Given the description of an element on the screen output the (x, y) to click on. 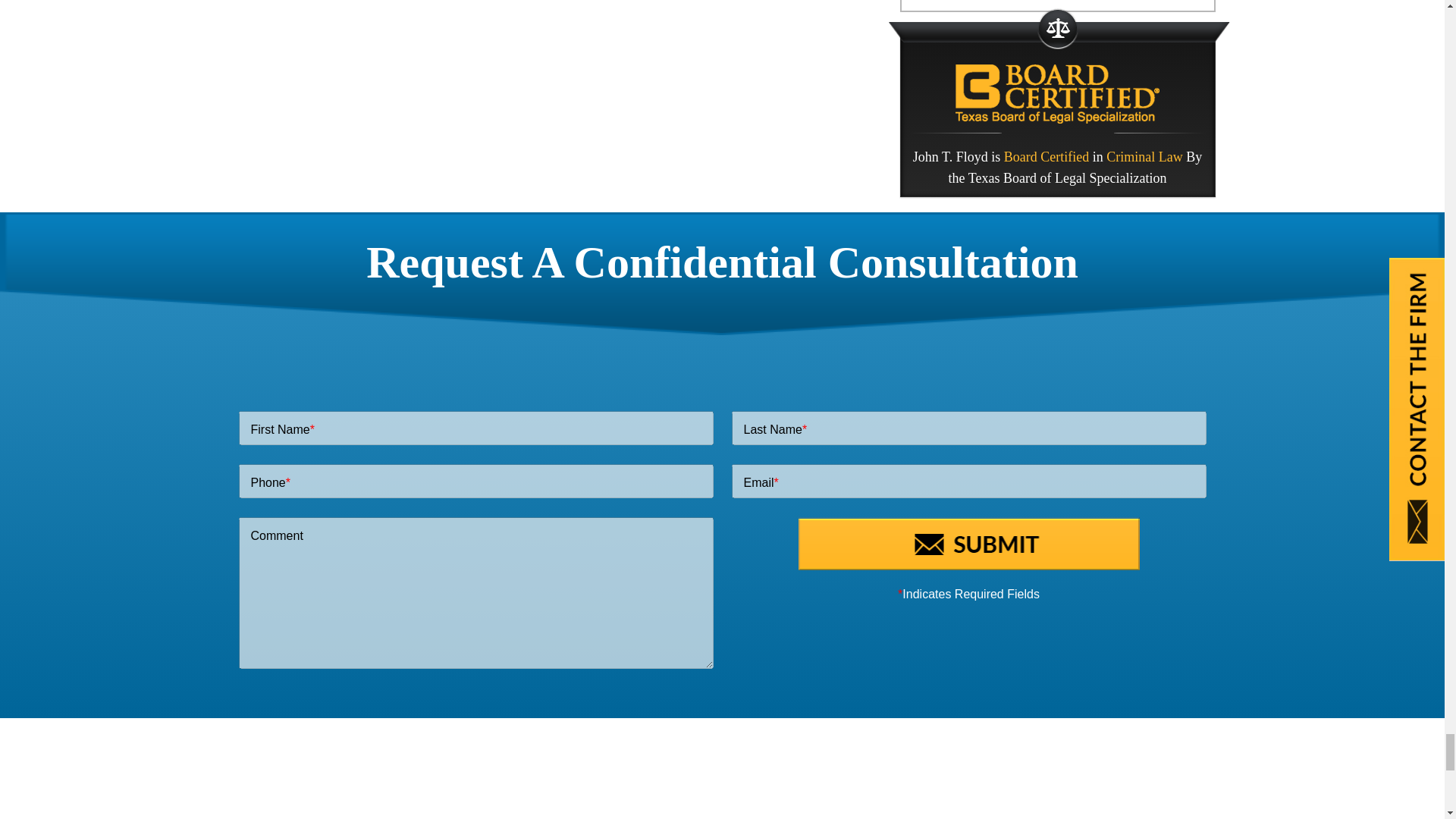
Submit (967, 543)
